Given the description of an element on the screen output the (x, y) to click on. 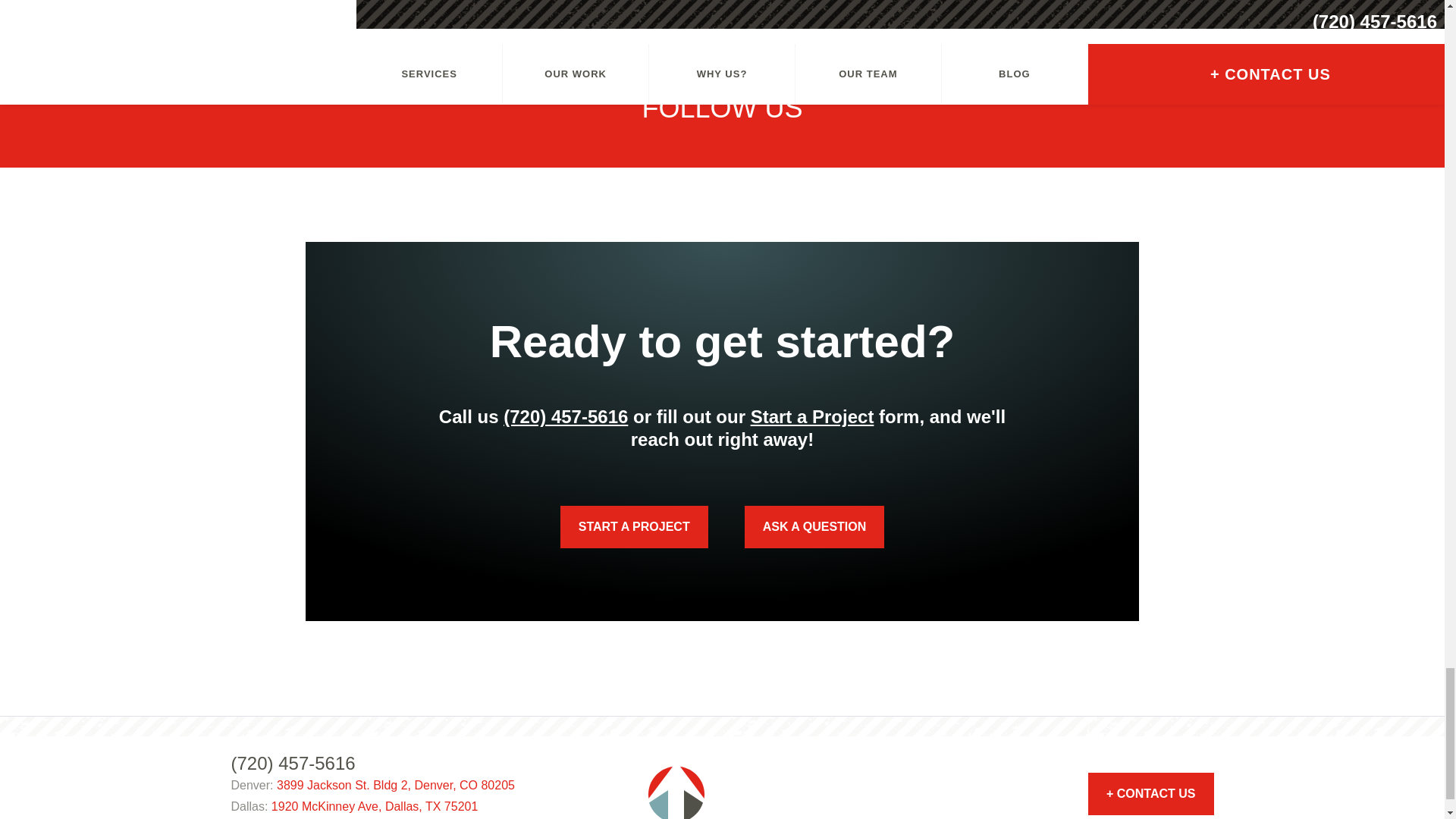
3899 Jackson St. Bldg 2, Denver, CO 80205 (395, 784)
Start a Project (813, 416)
1920 McKinney Ave, Dallas, TX 75201 (373, 806)
Subscribe (62, 32)
Subscribe (62, 32)
START A PROJECT (633, 526)
ASK A QUESTION (814, 526)
